Given the description of an element on the screen output the (x, y) to click on. 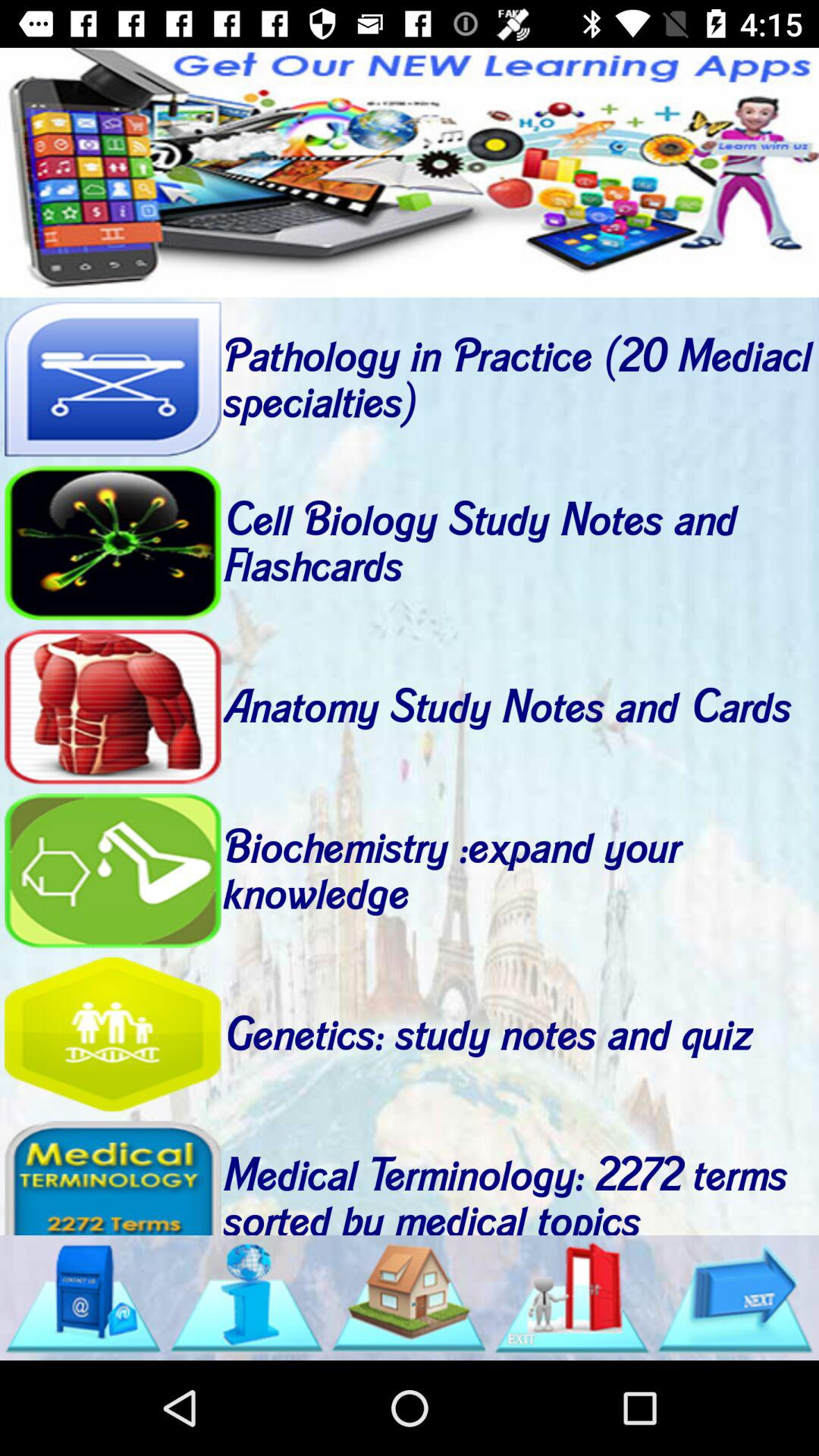
pathology button (112, 378)
